Given the description of an element on the screen output the (x, y) to click on. 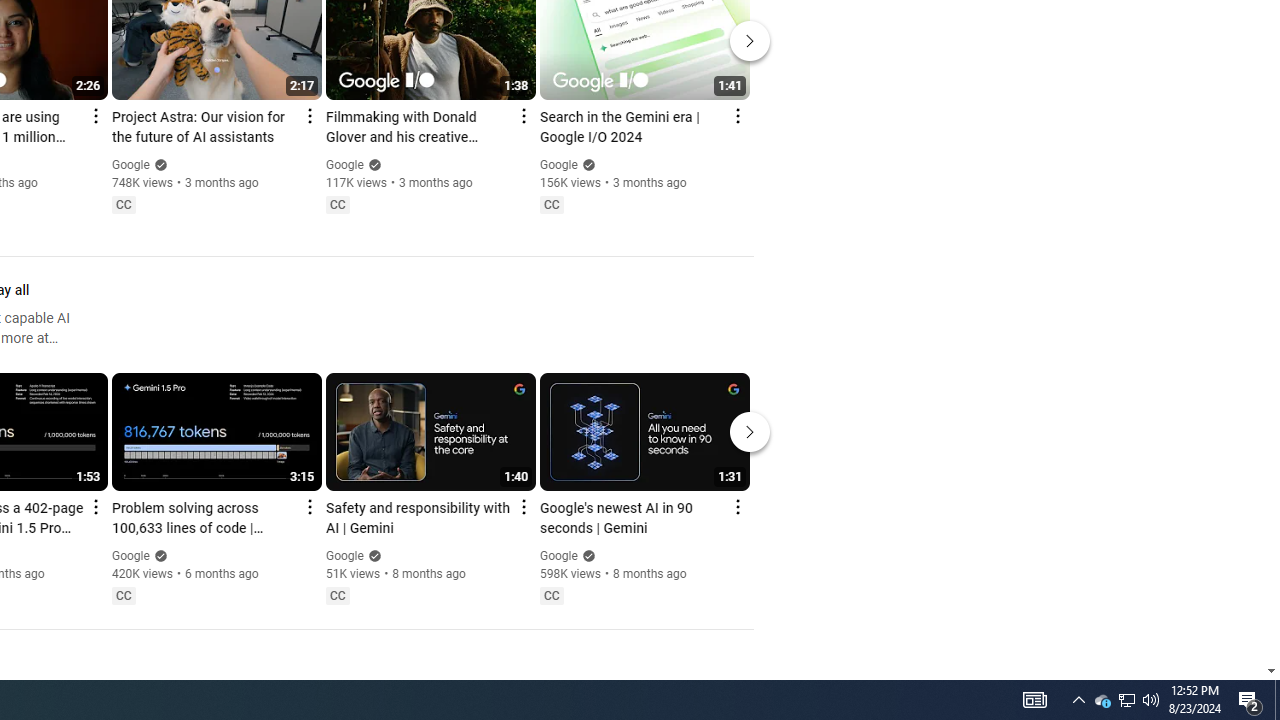
Action menu (736, 506)
Closed captions (551, 595)
Google (558, 556)
Next (749, 431)
Verified (586, 555)
